Given the description of an element on the screen output the (x, y) to click on. 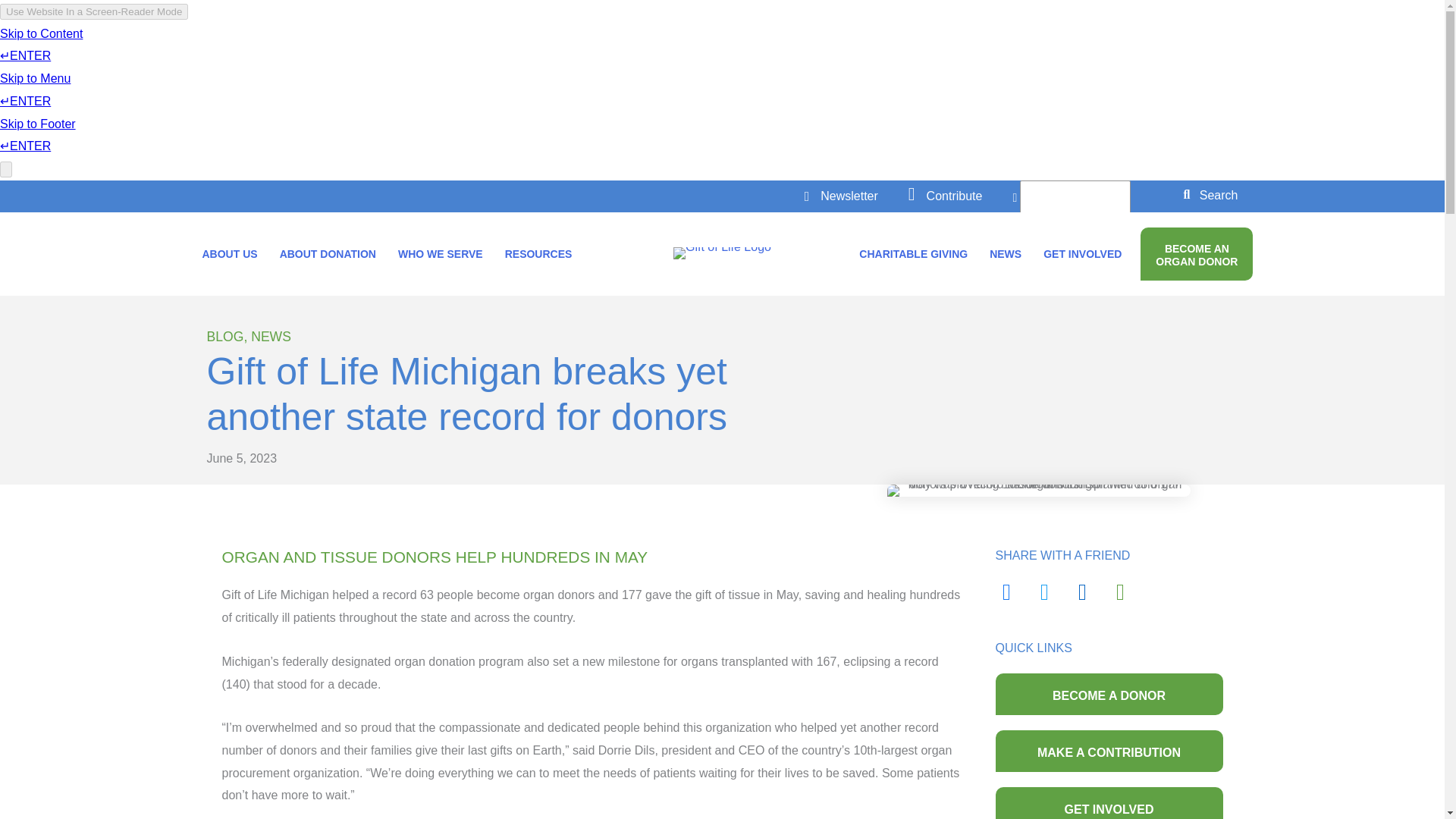
ABOUT US (228, 254)
English (1072, 200)
ABOUT DONATION (328, 254)
Contribute (954, 196)
WHO WE SERVE (440, 254)
Click Here (1210, 194)
English (1072, 200)
Search (1210, 194)
Newsletter (849, 196)
